Given the description of an element on the screen output the (x, y) to click on. 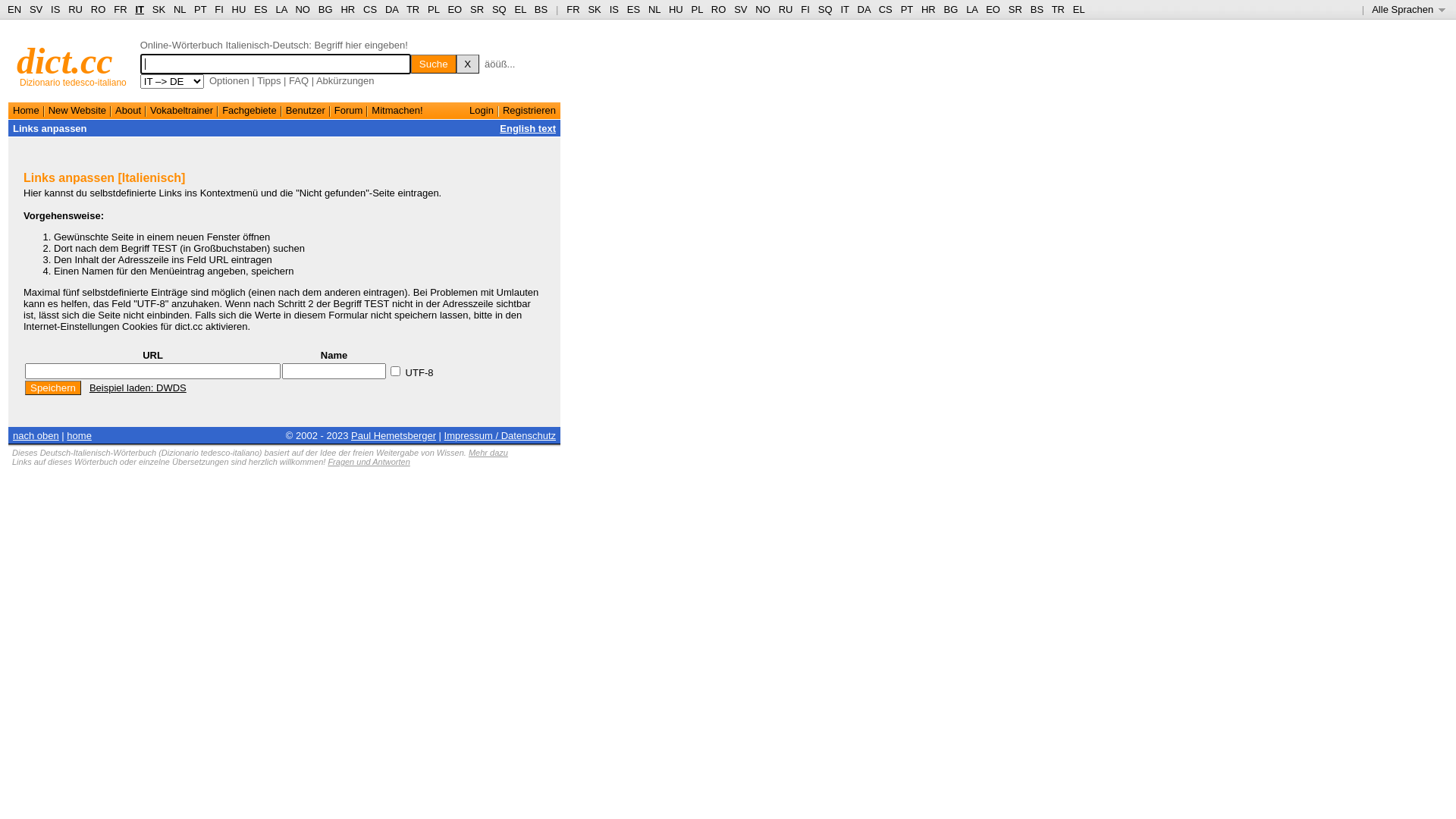
Mehr dazu Element type: text (488, 452)
FR Element type: text (572, 9)
NO Element type: text (762, 9)
SQ Element type: text (499, 9)
IS Element type: text (54, 9)
Benutzer Element type: text (305, 110)
SV Element type: text (740, 9)
RU Element type: text (75, 9)
Suche Element type: text (433, 63)
TR Element type: text (1057, 9)
Tipps Element type: text (268, 80)
LA Element type: text (971, 9)
BS Element type: text (1036, 9)
NL Element type: text (654, 9)
Forum Element type: text (348, 110)
NL Element type: text (179, 9)
ES Element type: text (633, 9)
Mitmachen! Element type: text (396, 110)
FI Element type: text (804, 9)
RO Element type: text (98, 9)
PT Element type: text (906, 9)
ES Element type: text (260, 9)
EL Element type: text (1079, 9)
Registrieren Element type: text (528, 110)
LA Element type: text (280, 9)
CS Element type: text (369, 9)
IT Element type: text (844, 9)
New Website Element type: text (77, 110)
FI Element type: text (218, 9)
BS Element type: text (540, 9)
SK Element type: text (593, 9)
Alle Sprachen  Element type: text (1408, 9)
dict.cc Element type: text (64, 60)
HU Element type: text (675, 9)
DA Element type: text (863, 9)
NO Element type: text (302, 9)
Impressum / Datenschutz Element type: text (499, 434)
Home Element type: text (25, 110)
SQ Element type: text (825, 9)
PL Element type: text (433, 9)
RU Element type: text (785, 9)
Fachgebiete Element type: text (249, 110)
PL Element type: text (696, 9)
nach oben Element type: text (35, 434)
EO Element type: text (454, 9)
About Element type: text (128, 110)
HR Element type: text (347, 9)
RO Element type: text (718, 9)
Login Element type: text (481, 110)
Fragen und Antworten Element type: text (368, 461)
SK Element type: text (158, 9)
FR Element type: text (119, 9)
HR Element type: text (928, 9)
Paul Hemetsberger Element type: text (393, 434)
BG Element type: text (325, 9)
X Element type: text (467, 63)
IT Element type: text (139, 9)
EL Element type: text (520, 9)
English text Element type: text (527, 128)
home Element type: text (78, 434)
EO Element type: text (992, 9)
SV Element type: text (35, 9)
Speichern Element type: text (53, 387)
Vokabeltrainer Element type: text (181, 110)
SR Element type: text (1015, 9)
Beispiel laden: DWDS Element type: text (137, 387)
EN Element type: text (14, 9)
TR Element type: text (412, 9)
DA Element type: text (391, 9)
Optionen Element type: text (229, 80)
CS Element type: text (885, 9)
HU Element type: text (239, 9)
BG Element type: text (950, 9)
IS Element type: text (613, 9)
SR Element type: text (476, 9)
FAQ Element type: text (298, 80)
PT Element type: text (200, 9)
